Given the description of an element on the screen output the (x, y) to click on. 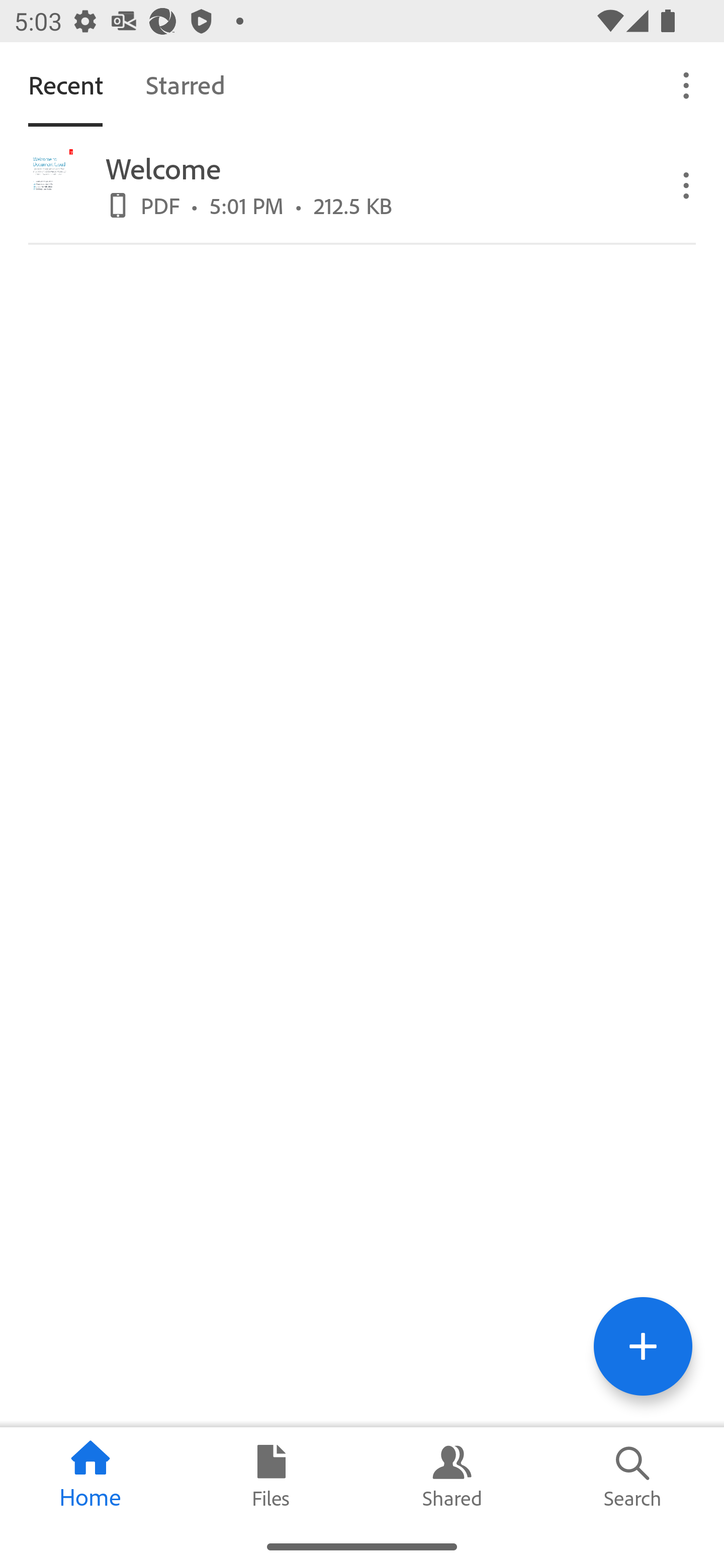
Recent (65, 84)
Starred (185, 84)
Overflow (687, 84)
Overflow (687, 184)
Tools (642, 1345)
Home (90, 1475)
Files (271, 1475)
Shared (452, 1475)
Search (633, 1475)
